Given the description of an element on the screen output the (x, y) to click on. 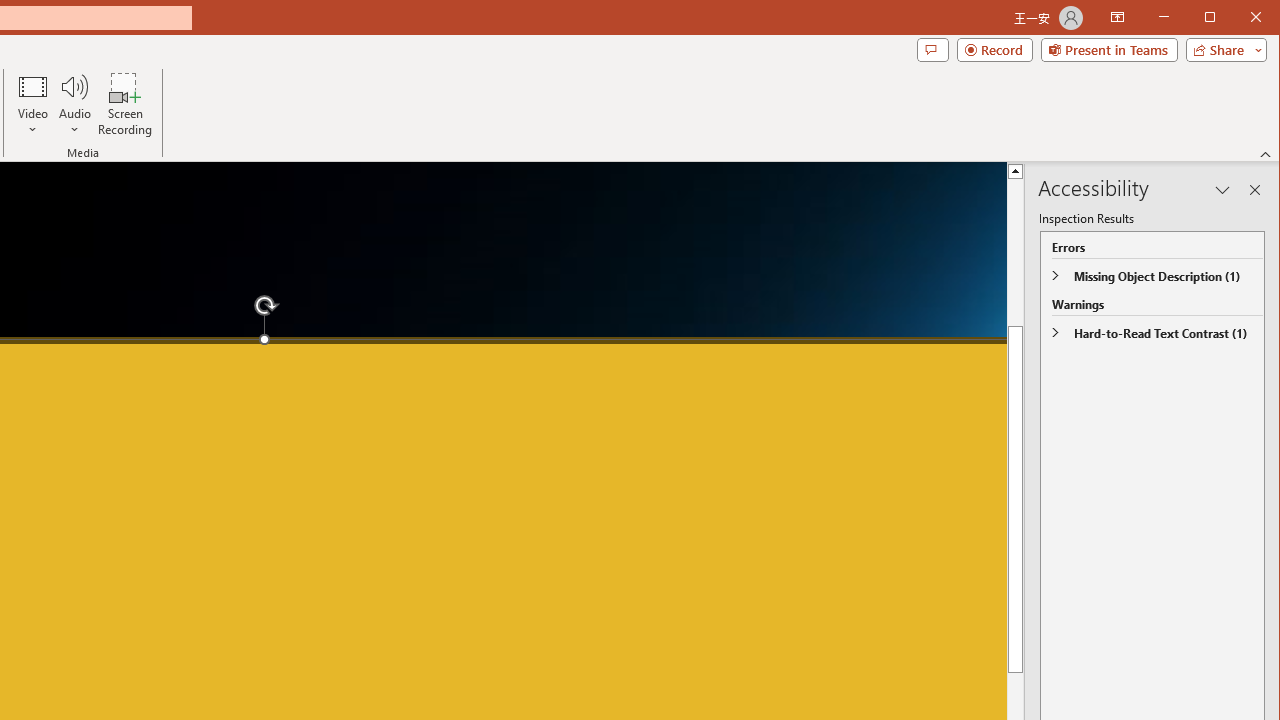
Screen Recording... (125, 104)
Video (32, 104)
